Given the description of an element on the screen output the (x, y) to click on. 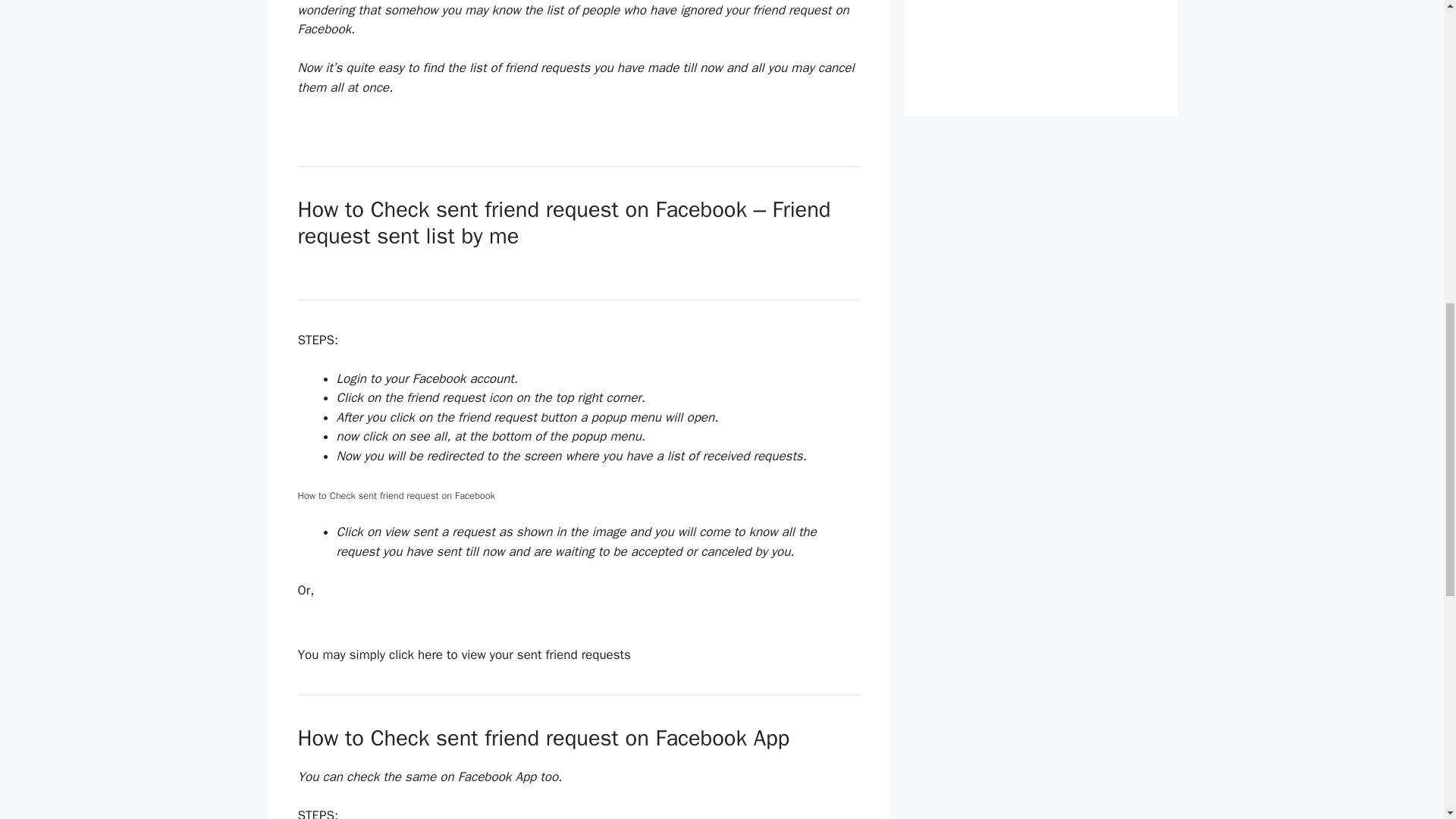
Advertisement (1040, 39)
